Given the description of an element on the screen output the (x, y) to click on. 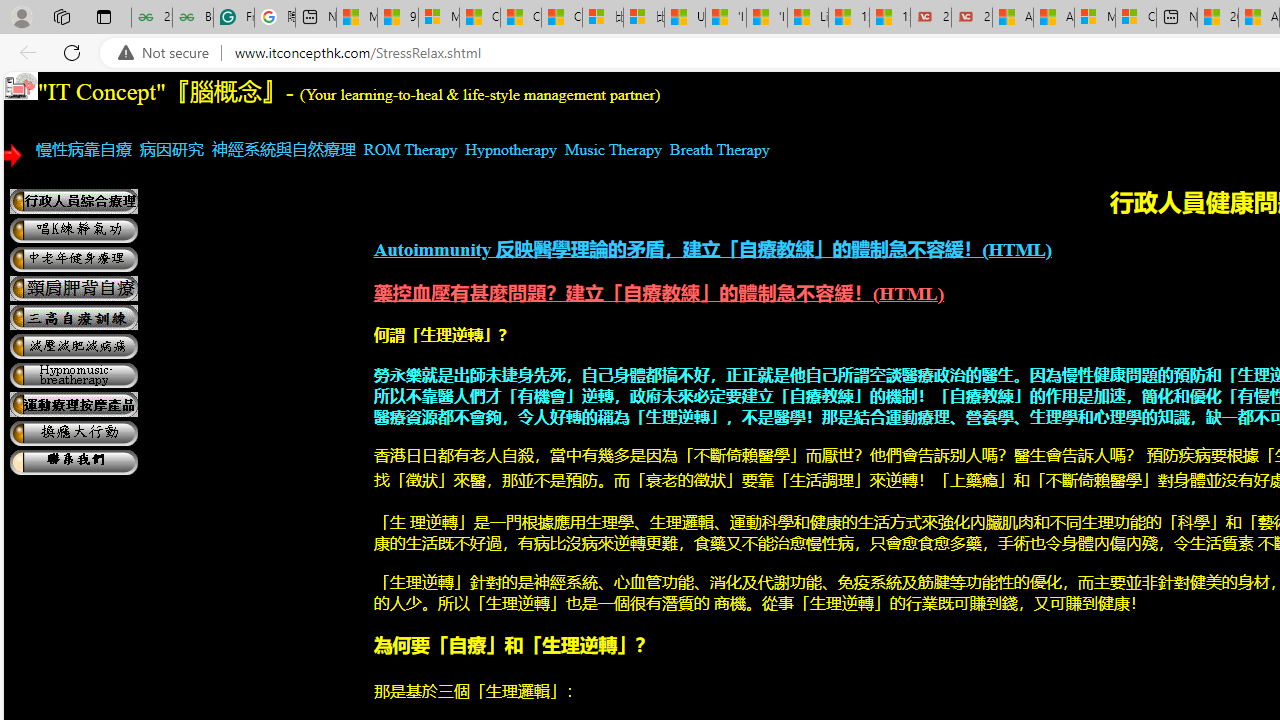
Not secure (168, 53)
Cloud Computing Services | Microsoft Azure (1135, 17)
Hypnotherapy (510, 149)
Lifestyle - MSN (808, 17)
Free AI Writing Assistance for Students | Grammarly (233, 17)
